Given the description of an element on the screen output the (x, y) to click on. 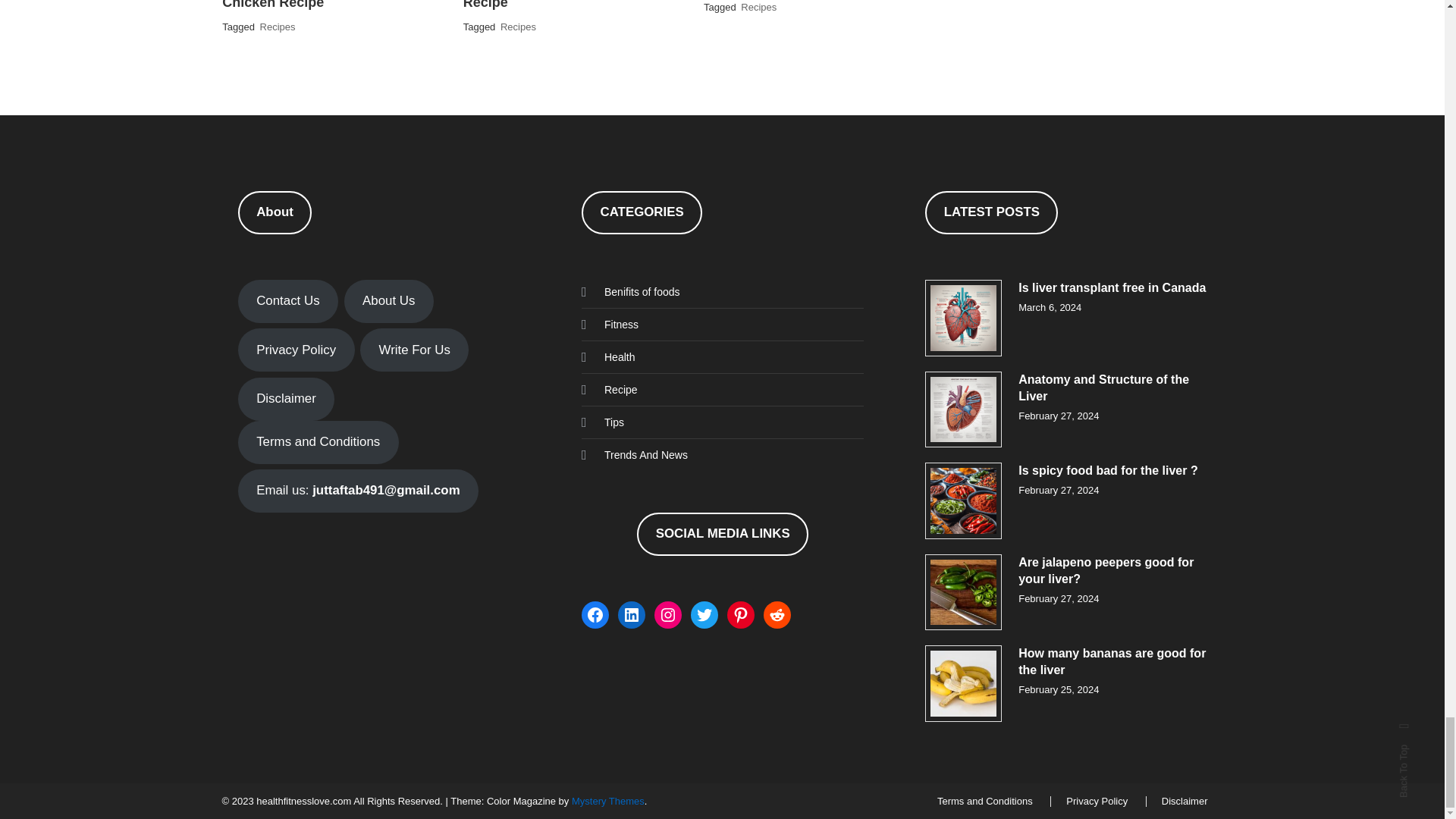
How many bananas are good for the liver (962, 683)
Anatomy and Structure of the Liver (962, 409)
Is spicy food bad for the liver ? (962, 500)
Are jalapeno peepers good for your liver? (962, 592)
Is liver transplant free in Canada (962, 318)
